Given the description of an element on the screen output the (x, y) to click on. 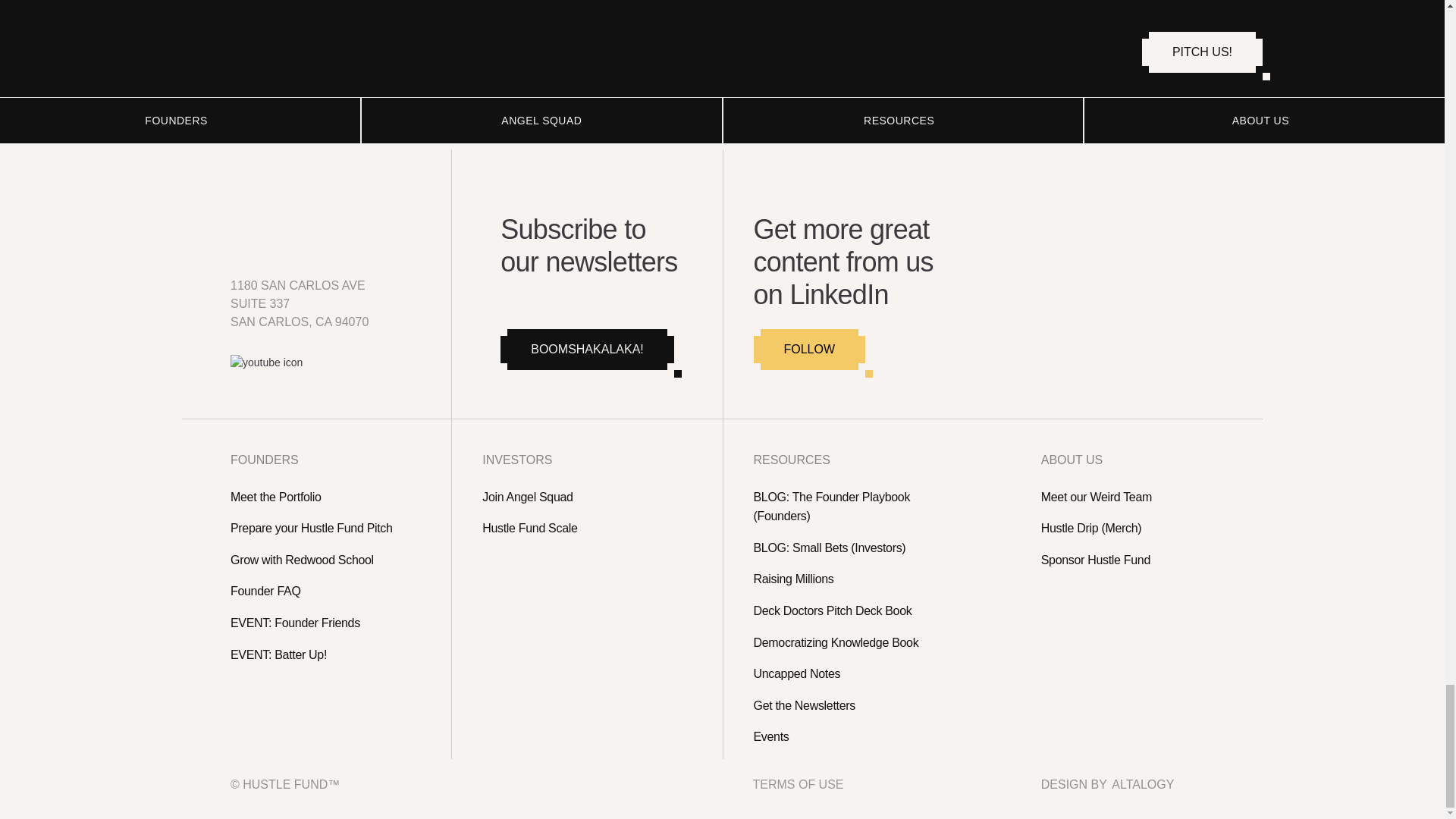
EVENT: Batter Up! (328, 655)
Prepare your Hustle Fund Pitch (328, 528)
EVENT: Founder Friends (328, 623)
Grow with Redwood School (328, 560)
Founder FAQ (328, 591)
Raising Millions (861, 578)
Deck Doctors Pitch Deck Book (861, 610)
Democratizing Knowledge Book (861, 642)
Join Angel Squad (589, 496)
FOLLOW (810, 349)
Meet the Portfolio (328, 496)
Hustle Fund Scale (589, 528)
BOOMSHAKALAKA! (587, 349)
